Given the description of an element on the screen output the (x, y) to click on. 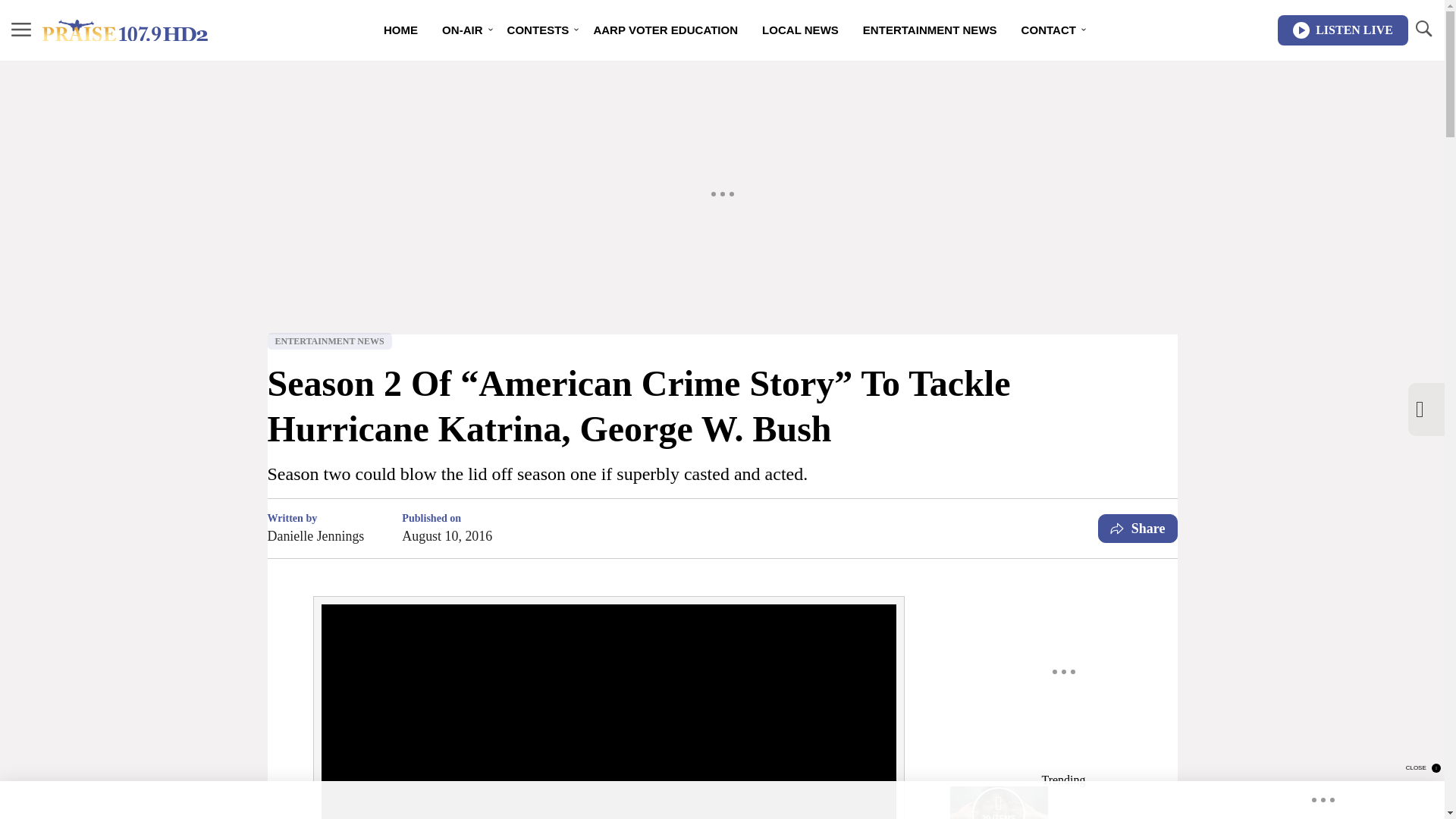
CONTESTS (537, 30)
TOGGLE SEARCH (1422, 30)
AARP VOTER EDUCATION (664, 30)
ON-AIR (462, 30)
LISTEN LIVE (1342, 30)
CONTACT (1048, 30)
MENU (20, 29)
Share (1137, 528)
TOGGLE SEARCH (1422, 28)
LOCAL NEWS (799, 30)
